Given the description of an element on the screen output the (x, y) to click on. 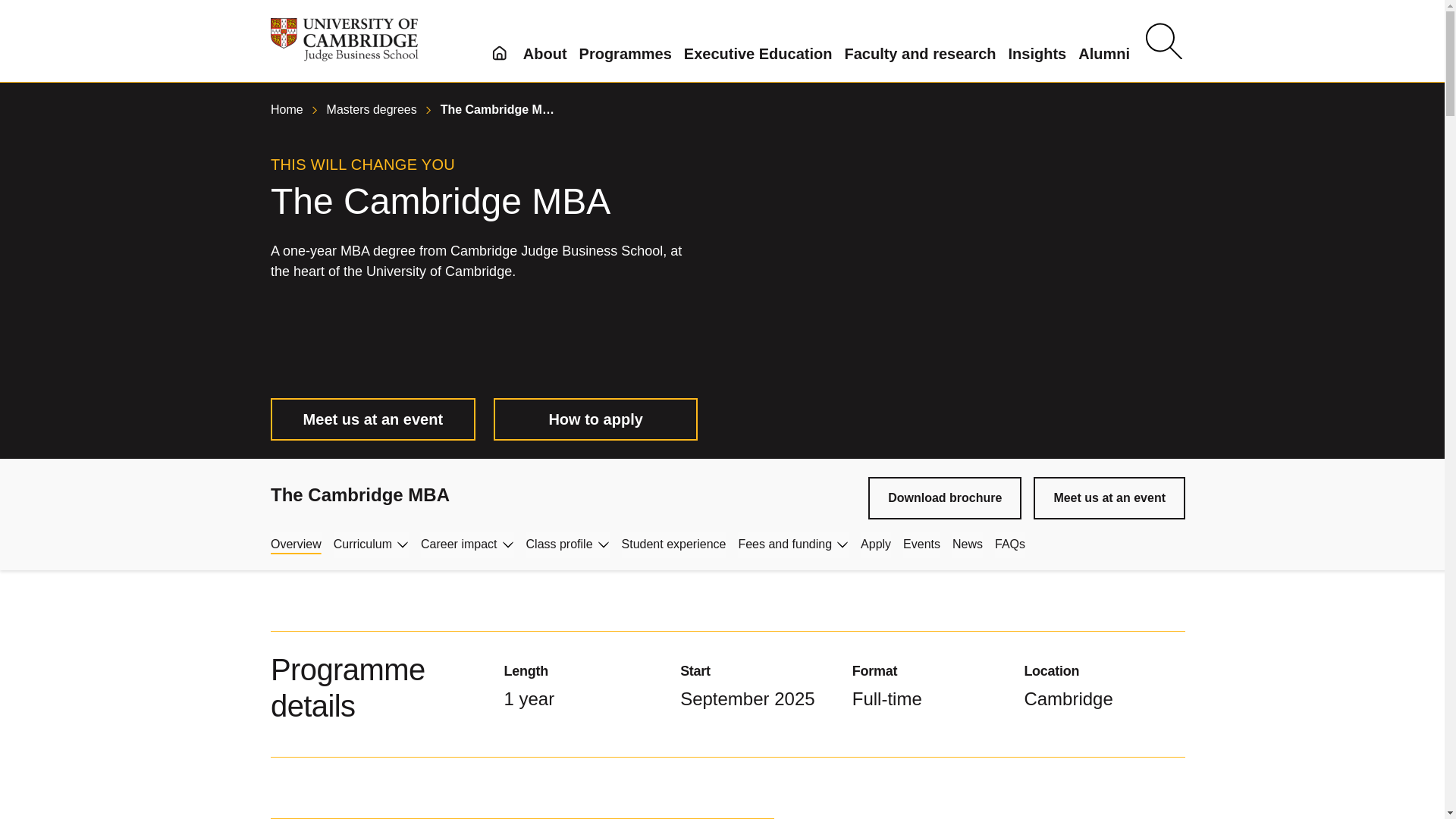
About (544, 54)
Home (287, 109)
Masters degrees (373, 109)
